Given the description of an element on the screen output the (x, y) to click on. 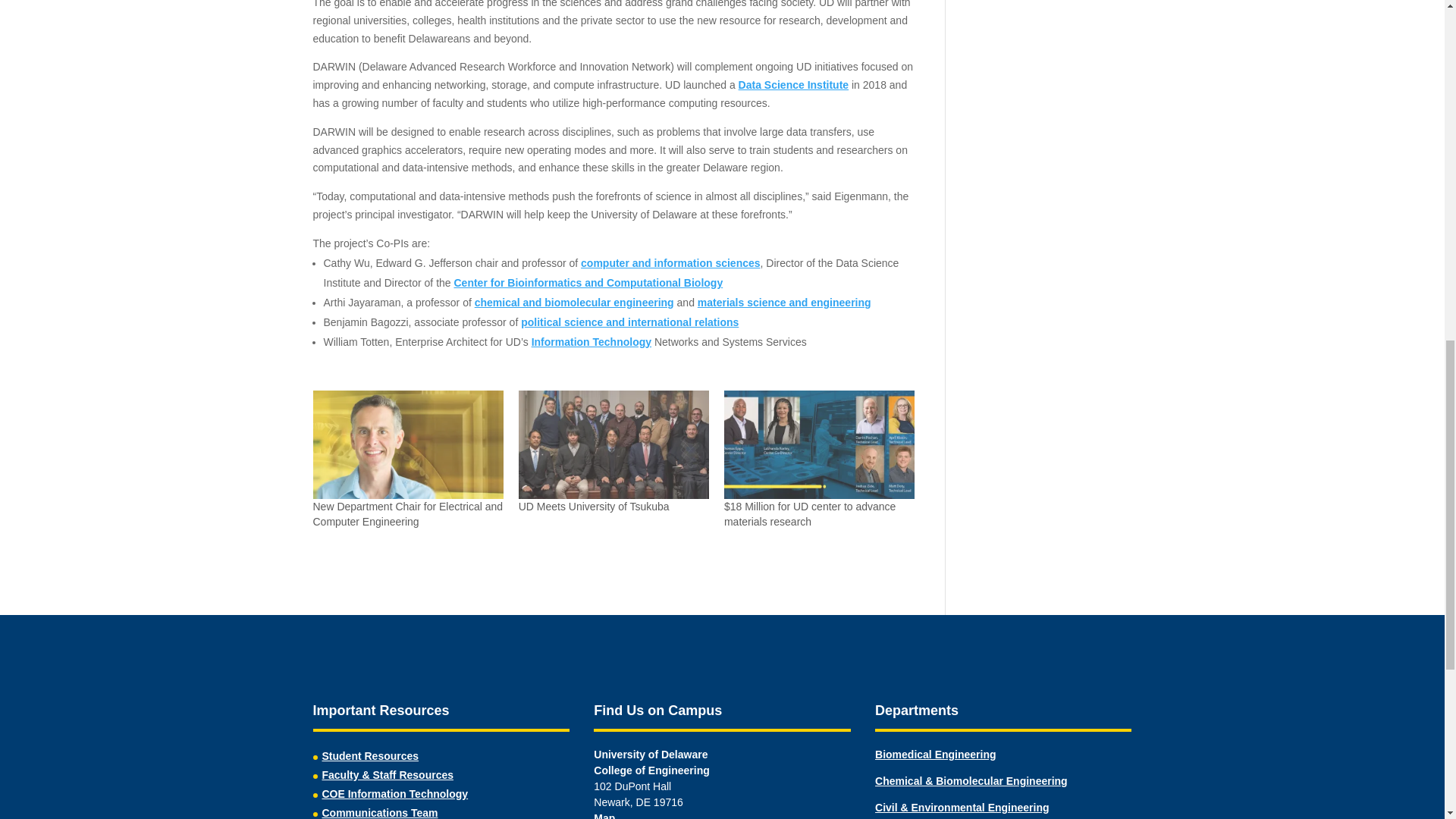
UD Meets University of Tsukuba (593, 506)
UD Meets University of Tsukuba (613, 444)
New Department Chair for Electrical and Computer Engineering (407, 513)
New Department Chair for Electrical and Computer Engineering (407, 444)
